Given the description of an element on the screen output the (x, y) to click on. 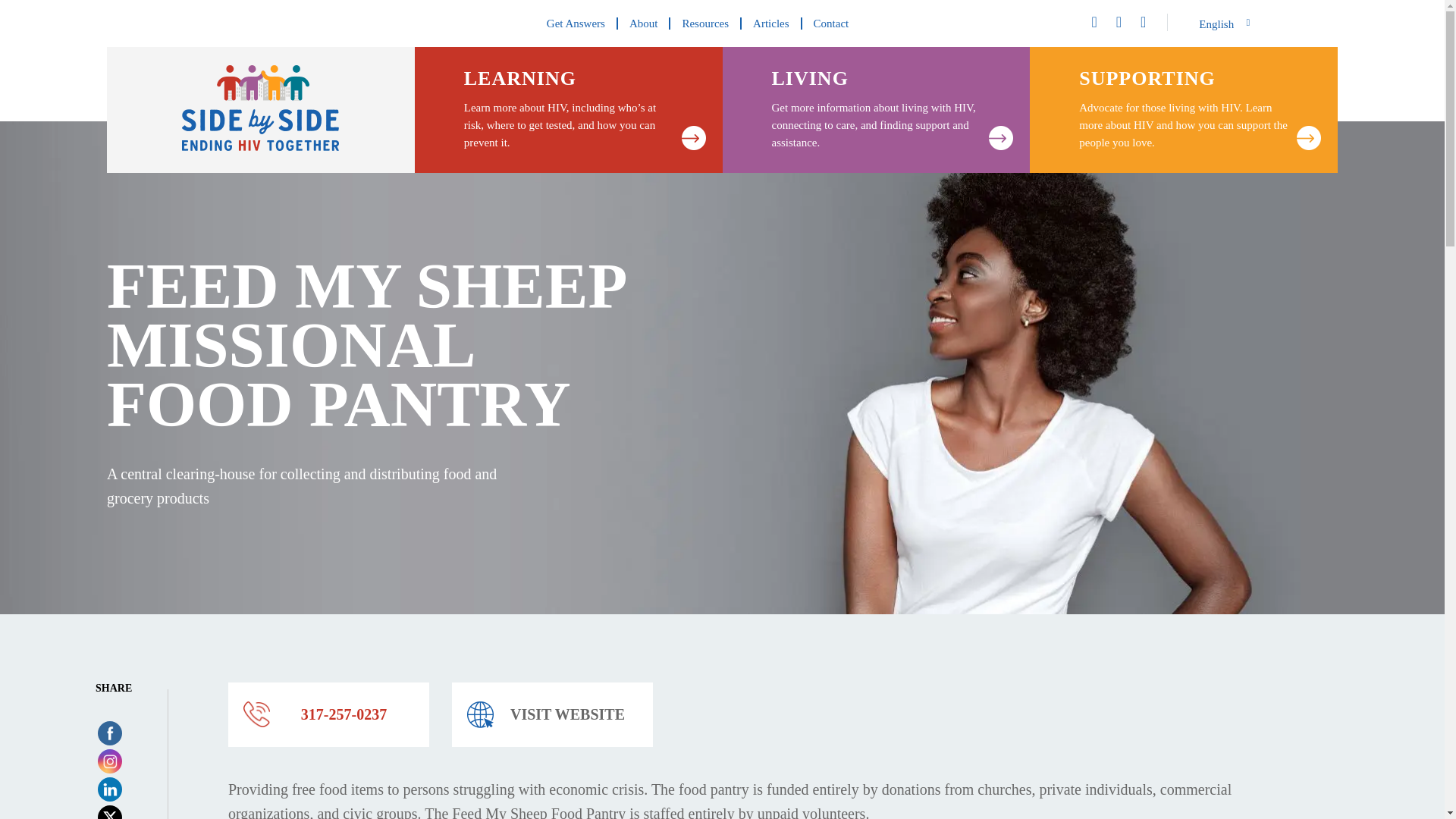
Contact (831, 23)
Twitter (109, 815)
About (644, 23)
Resources (705, 23)
Instagram (109, 761)
English (1224, 23)
Get Answers (576, 23)
LinkedIn (109, 789)
Facebook (109, 733)
